Given the description of an element on the screen output the (x, y) to click on. 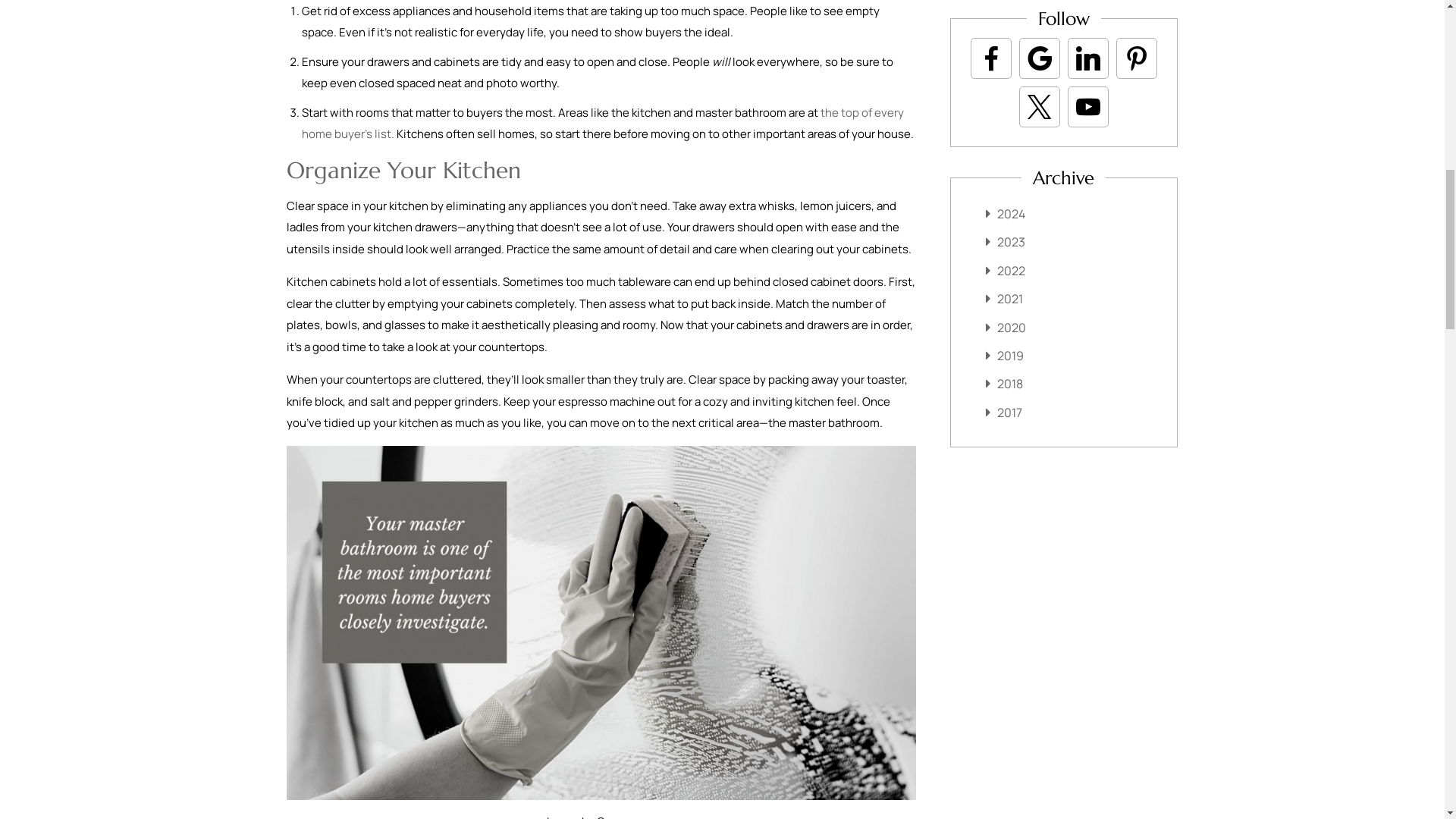
Visit me on Pinterest (1136, 57)
Visit me on LinkedIn (1087, 57)
Visit me on YouTube (1087, 106)
Visit me on Google (1038, 57)
Visit me on Facebook (990, 57)
